Given the description of an element on the screen output the (x, y) to click on. 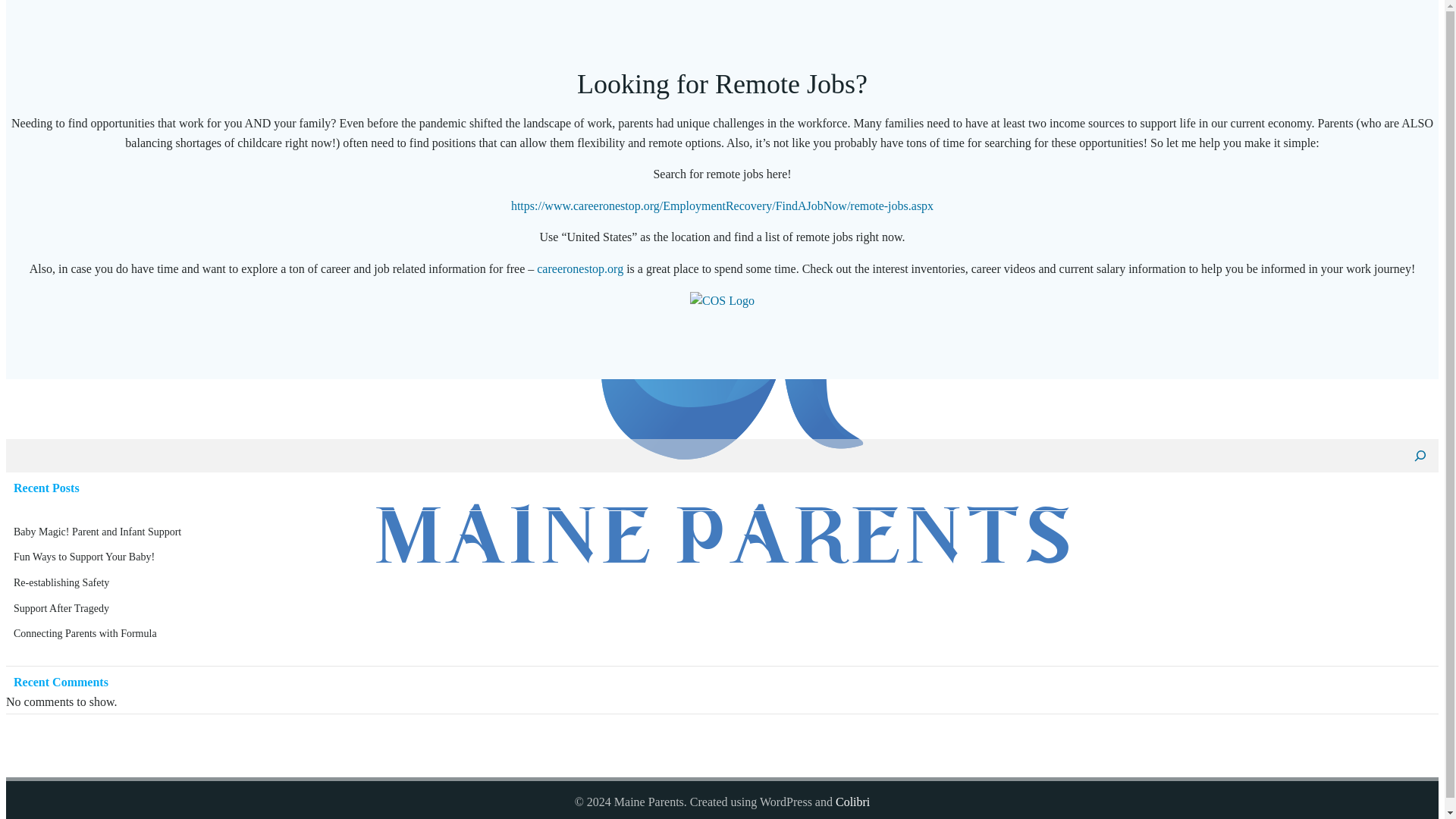
Colibri (852, 801)
careeronestop.org (580, 268)
Support After Tragedy (61, 608)
Baby Magic! Parent and Infant Support (96, 531)
COS Logo (722, 300)
Connecting Parents with Formula (85, 633)
Fun Ways to Support Your Baby! (83, 556)
Re-establishing Safety (61, 582)
